Given the description of an element on the screen output the (x, y) to click on. 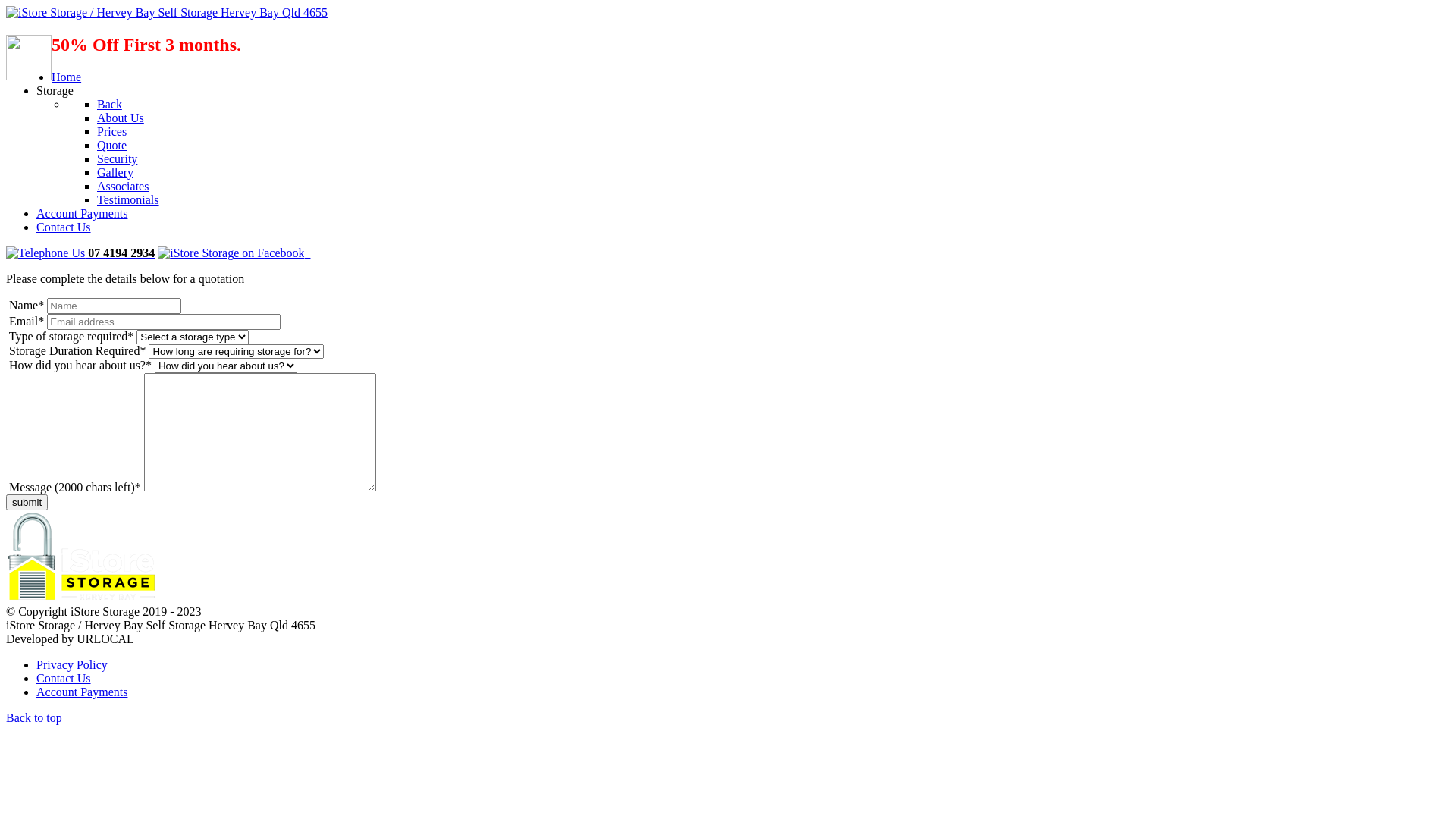
iStore Storage on Facebook Element type: hover (233, 252)
Security Element type: text (117, 158)
Associates Element type: text (122, 185)
submit Element type: text (26, 502)
Home Element type: text (66, 76)
Testimonials Element type: text (128, 199)
Privacy Policy Element type: text (71, 664)
About Us Element type: text (120, 117)
iStore Storage on Facebook Element type: hover (230, 253)
iStore Storage / Hervey Bay Self Storage Hervey Bay Qld 4655 Element type: hover (166, 12)
iStore Storage / Hervey Bay Self Storage Hervey Bay Qld 4655 Element type: hover (81, 597)
Back to top Element type: text (34, 717)
Telephone Us Element type: hover (45, 253)
Contact Us Element type: text (63, 226)
Quote Element type: text (111, 144)
Gallery Element type: text (115, 172)
Back Element type: text (109, 103)
07 4194 2934 Element type: text (80, 252)
   Element type: text (233, 252)
Account Payments Element type: text (81, 213)
Prices Element type: text (111, 131)
Account Payments Element type: text (81, 691)
Contact Us Element type: text (63, 677)
